Given the description of an element on the screen output the (x, y) to click on. 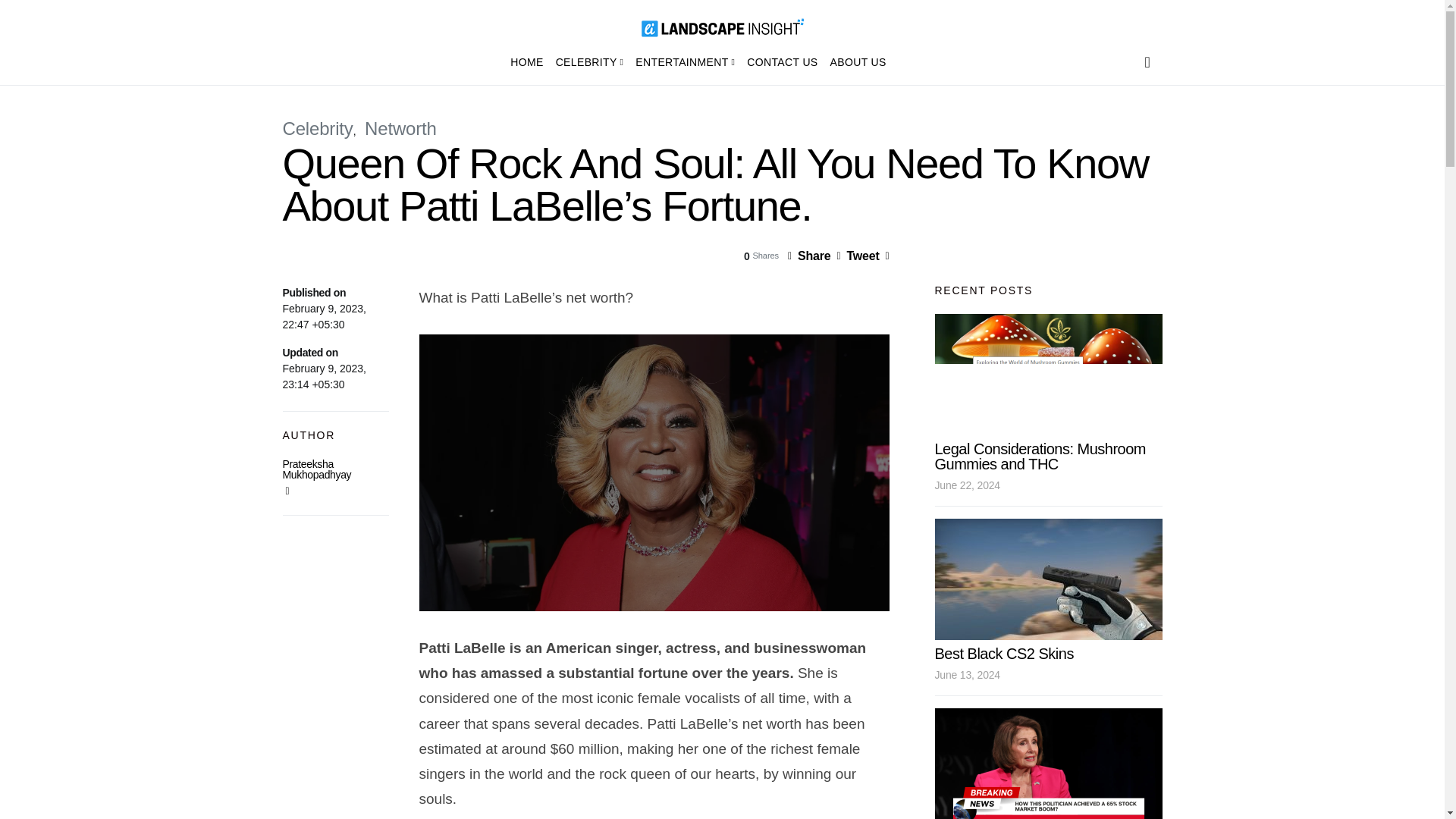
Celebrity (317, 127)
Best Black CS2 Skins 12 20220620211949 1 2024 TV Series (1047, 578)
ENTERTAINMENT (684, 62)
Share (808, 256)
ABOUT US (855, 62)
CELEBRITY (590, 62)
Tweet (857, 256)
CONTACT US (782, 62)
Networth (400, 127)
